Given the description of an element on the screen output the (x, y) to click on. 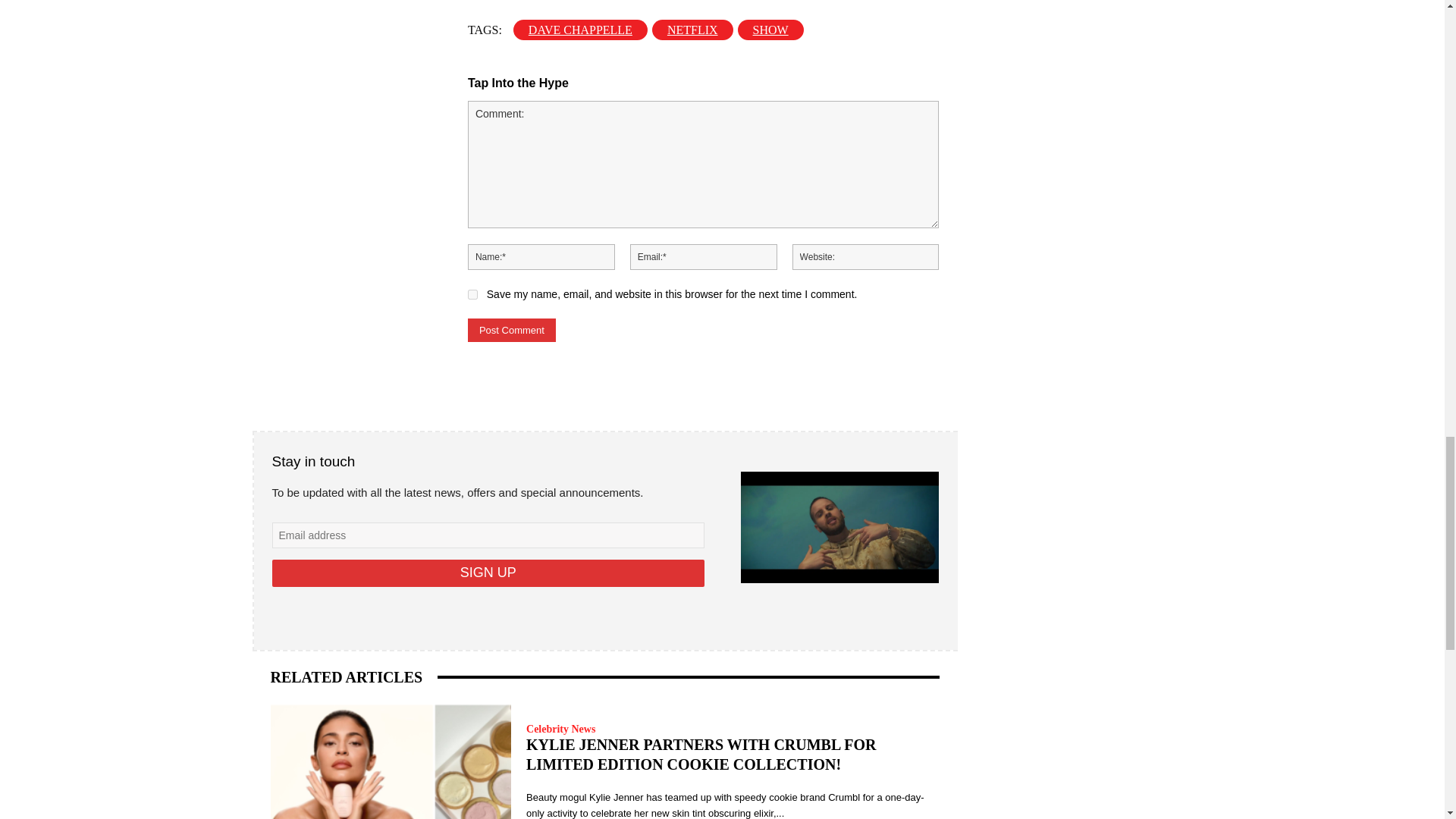
yes (472, 294)
Post Comment (511, 330)
